Given the description of an element on the screen output the (x, y) to click on. 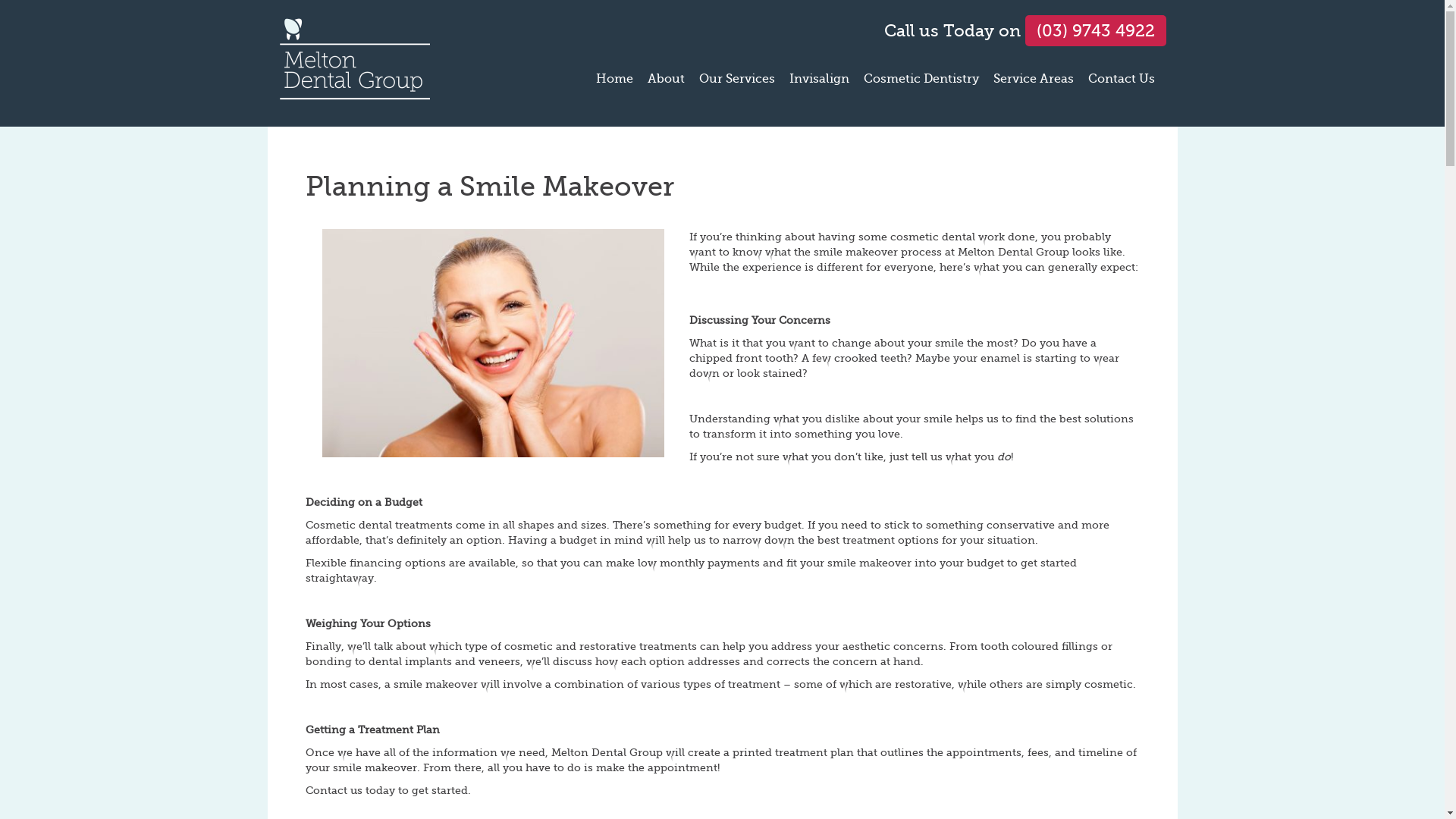
Service Areas Element type: text (1033, 86)
Cosmetic Dentistry Element type: text (920, 86)
Contact Us Element type: text (1120, 86)
Invisalign Element type: text (818, 86)
Our Services Element type: text (737, 86)
Home Element type: text (614, 86)
About Element type: text (665, 86)
(03) 9743 4922 Element type: text (1095, 30)
